Given the description of an element on the screen output the (x, y) to click on. 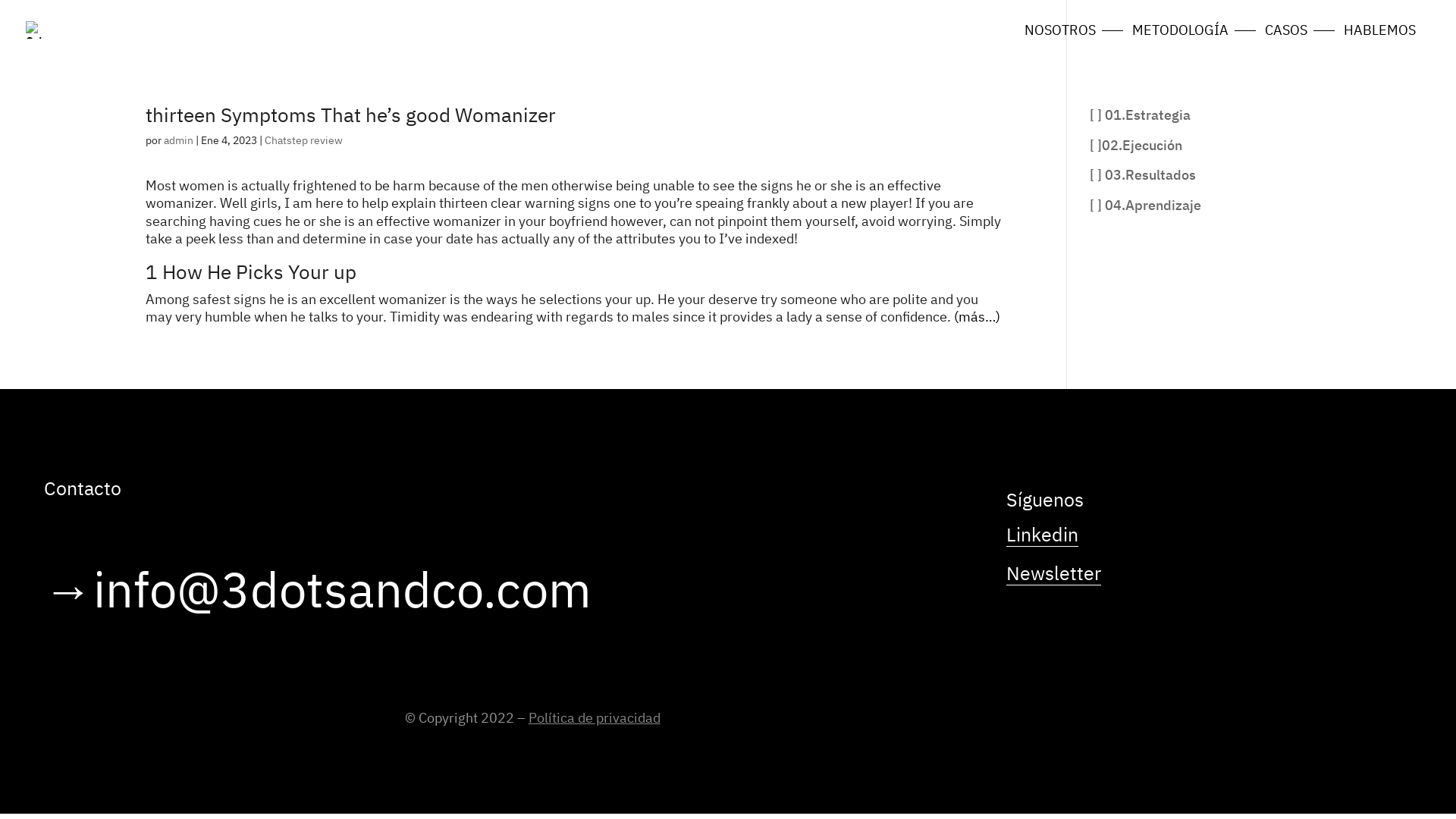
Newsletter Element type: text (1053, 575)
HABLEMOS Element type: text (1379, 31)
[ ] 04.Aprendizaje Element type: text (1145, 204)
Linkedin Element type: text (1042, 537)
[ ] 01.Estrategia Element type: text (1139, 114)
CASOS Element type: text (1285, 31)
admin Element type: text (178, 140)
NOSOTROS Element type: text (1059, 31)
[ ] 03.Resultados Element type: text (1142, 174)
Chatstep review Element type: text (303, 140)
